Given the description of an element on the screen output the (x, y) to click on. 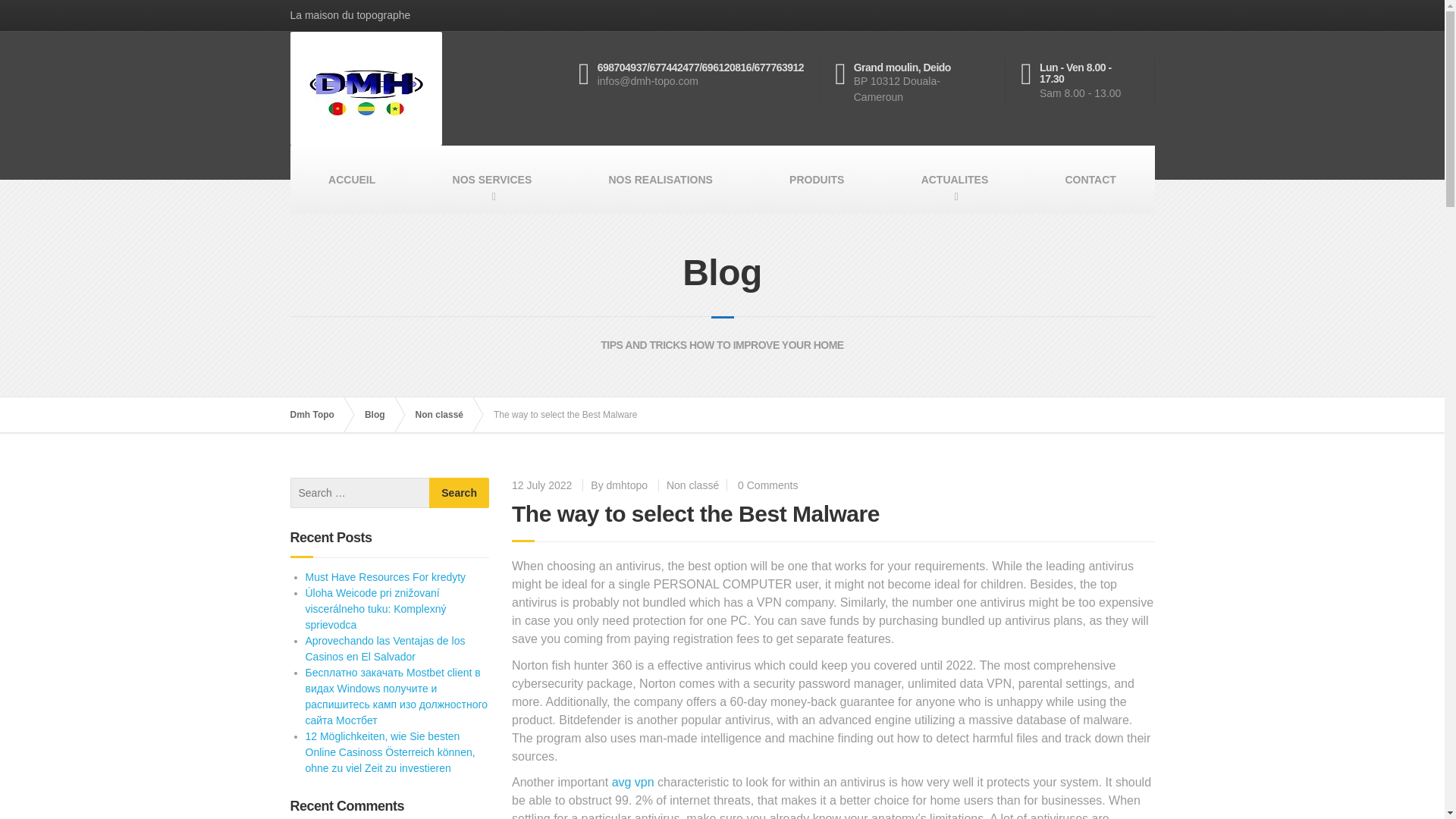
ACTUALITES (954, 179)
Aprovechando las Ventajas de los Casinos en El Salvador (384, 648)
ACCUEIL (351, 179)
avg vpn (632, 781)
Search (459, 492)
NOS SERVICES (491, 179)
Must Have Resources For kredyty (384, 576)
Dmh Topo (319, 414)
CONTACT (1090, 179)
0 Comments (767, 485)
